Given the description of an element on the screen output the (x, y) to click on. 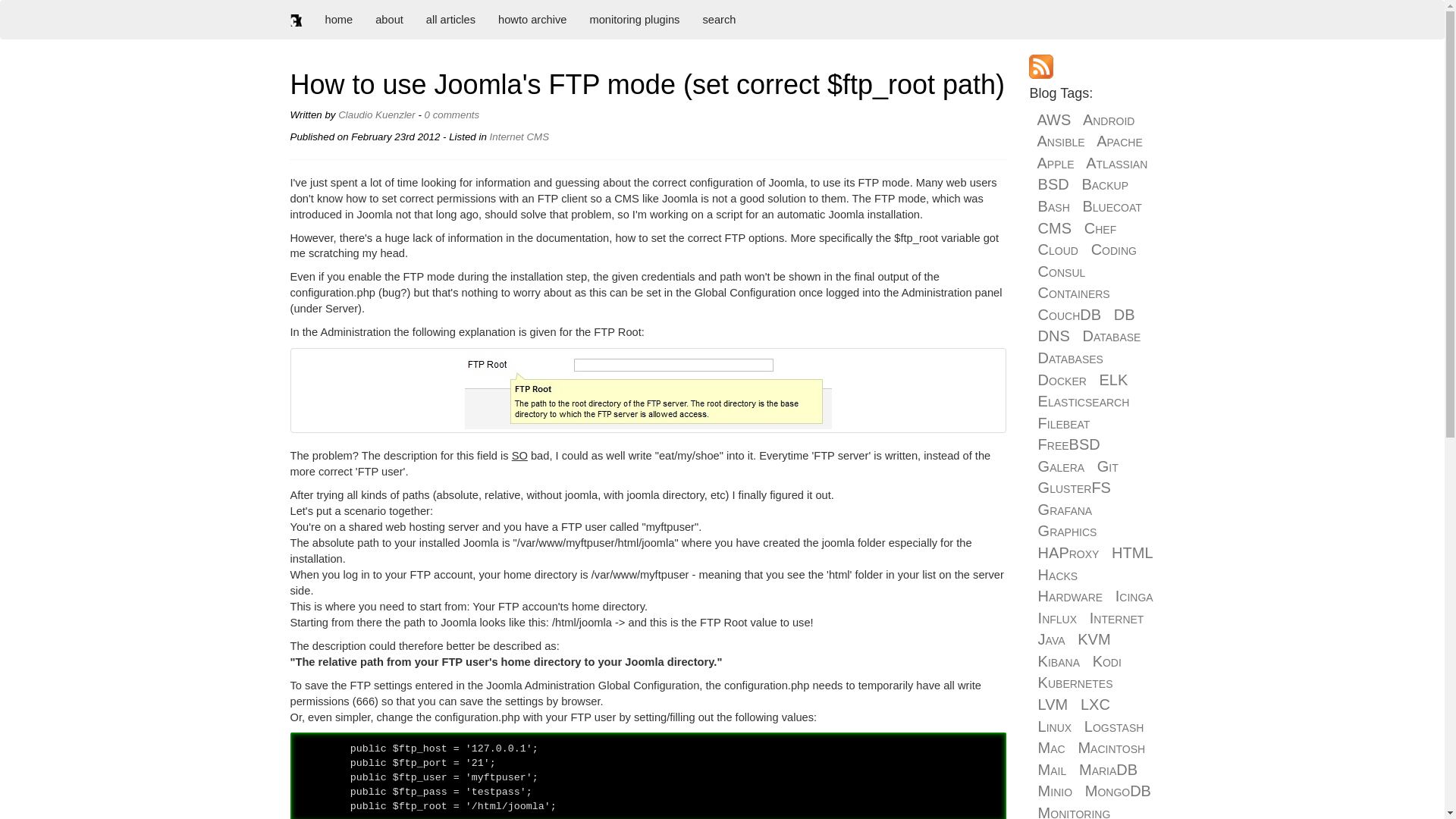
Coding (1113, 248)
Cloud (1058, 248)
CMS (1054, 228)
0 comments (452, 114)
Database (1112, 335)
AWS (1053, 119)
CouchDB (1069, 314)
Containers (1073, 292)
Claudio Kuenzler (375, 114)
search (718, 19)
monitoring plugins (634, 19)
Apple (1055, 162)
about (389, 19)
Chef (1100, 228)
Android (1109, 119)
